Given the description of an element on the screen output the (x, y) to click on. 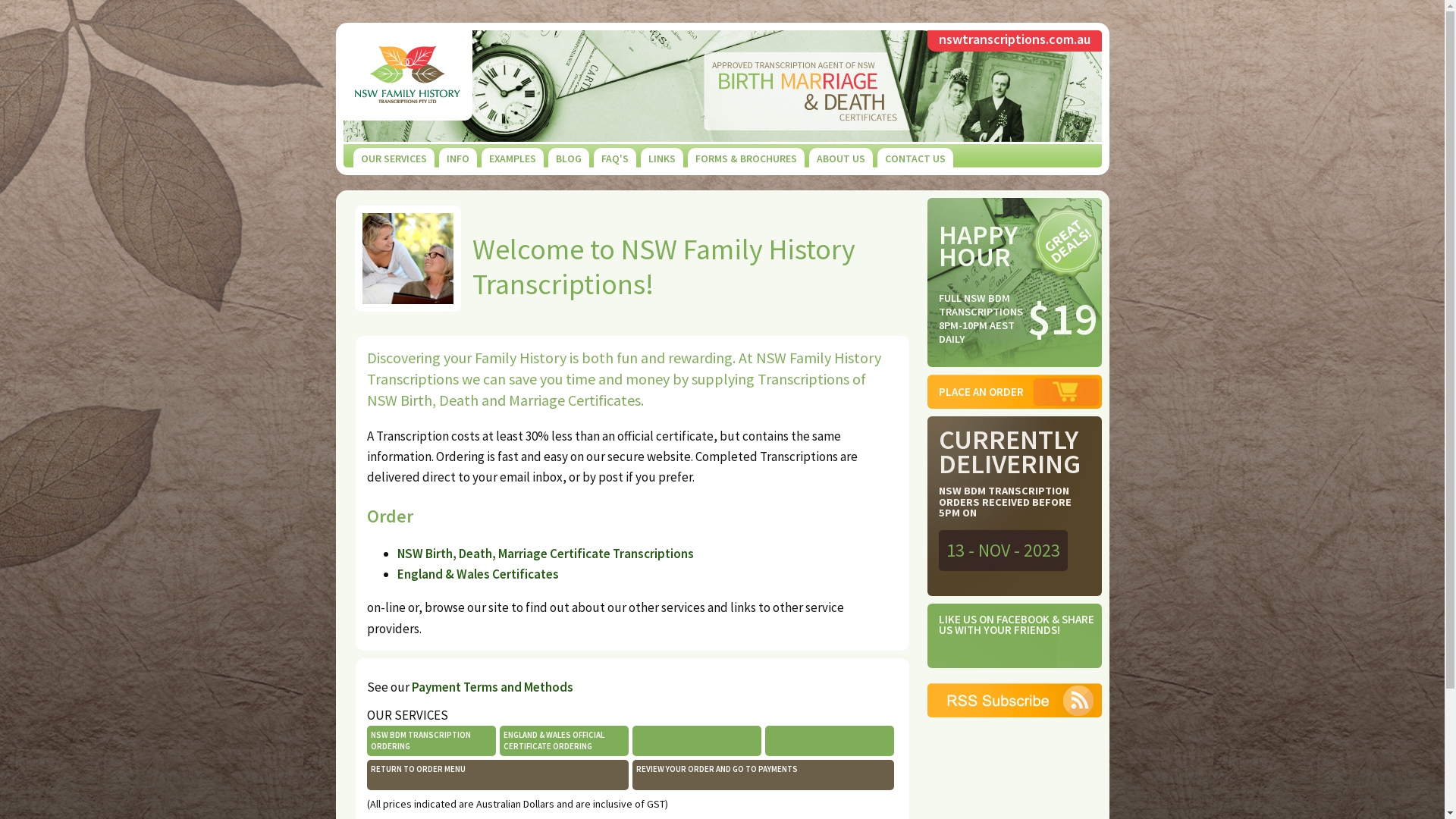
ABOUT US Element type: text (840, 157)
Payment Terms and Methods Element type: text (491, 686)
ENGLAND & WALES OFFICIAL CERTIFICATE ORDERING Element type: text (553, 739)
NSW Birth, Death, Marriage Certificate Transcriptions Element type: text (545, 553)
RETURN TO ORDER MENU Element type: text (417, 768)
FORMS & BROCHURES Element type: text (745, 157)
INFO Element type: text (457, 157)
EXAMPLES Element type: text (511, 157)
NSW BDM TRANSCRIPTION ORDERING Element type: text (420, 739)
PLACE AN ORDER Element type: text (980, 391)
CONTACT US Element type: text (914, 157)
England & Wales Certificates Element type: text (477, 573)
FAQ'S Element type: text (614, 157)
LINKS Element type: text (661, 157)
OUR SERVICES Element type: text (393, 157)
BLOG Element type: text (567, 157)
REVIEW YOUR ORDER AND GO TO PAYMENTS Element type: text (716, 768)
